Given the description of an element on the screen output the (x, y) to click on. 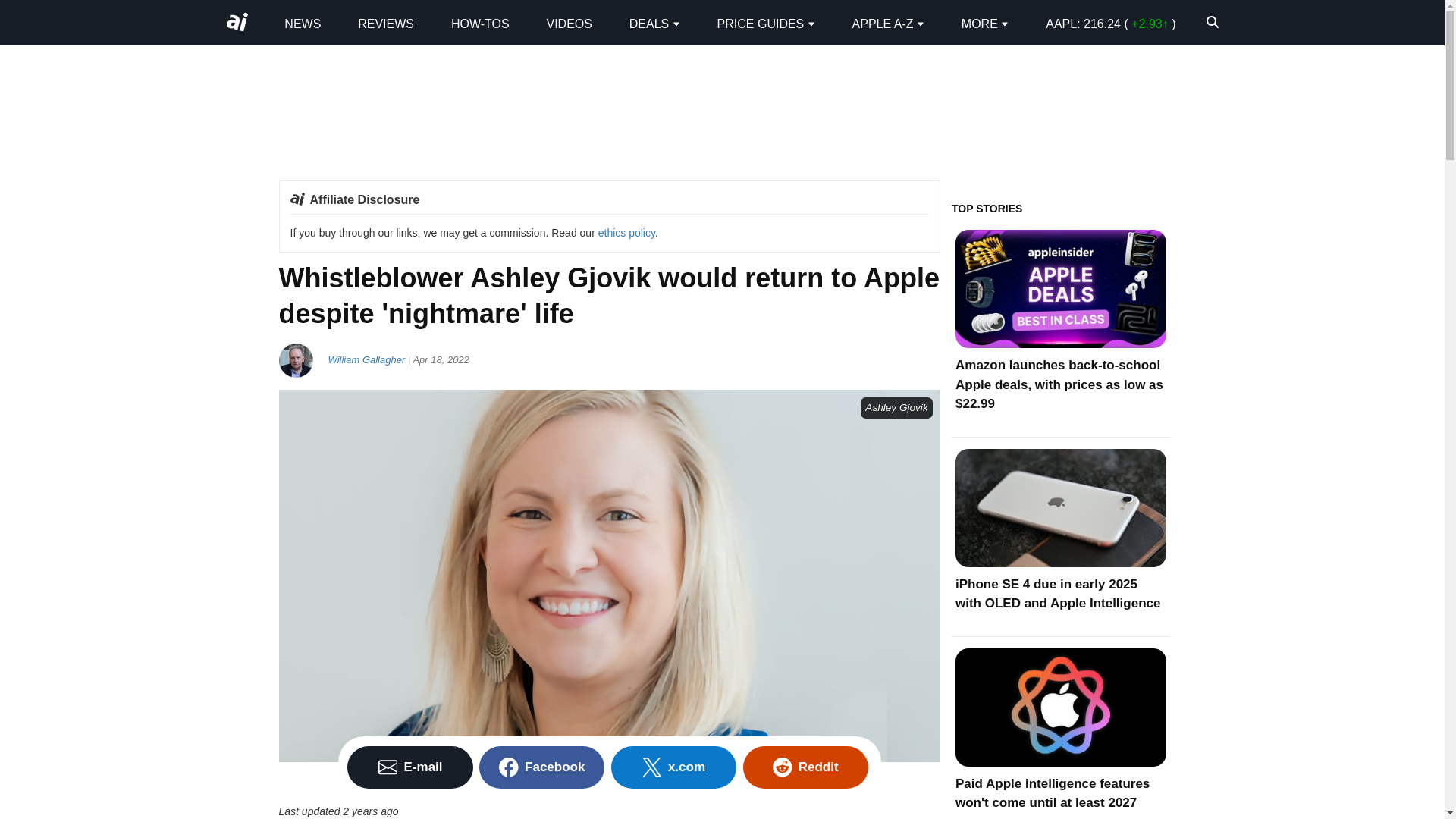
VIDEOS (568, 23)
REVIEWS (385, 23)
How-Tos (480, 23)
Reviews (385, 23)
News (301, 23)
HOW-TOS (480, 23)
Videos (568, 23)
NEWS (301, 23)
